Given the description of an element on the screen output the (x, y) to click on. 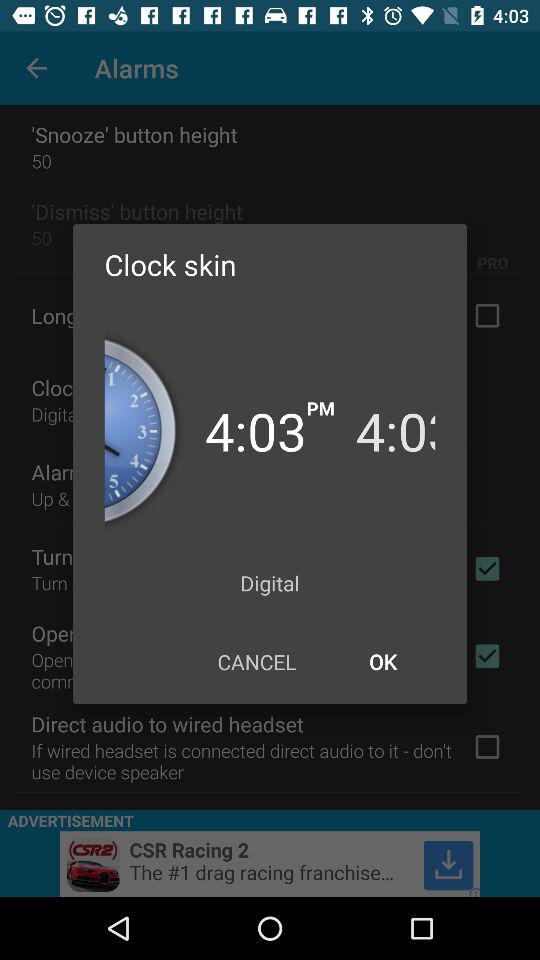
swipe until the cancel (256, 661)
